Given the description of an element on the screen output the (x, y) to click on. 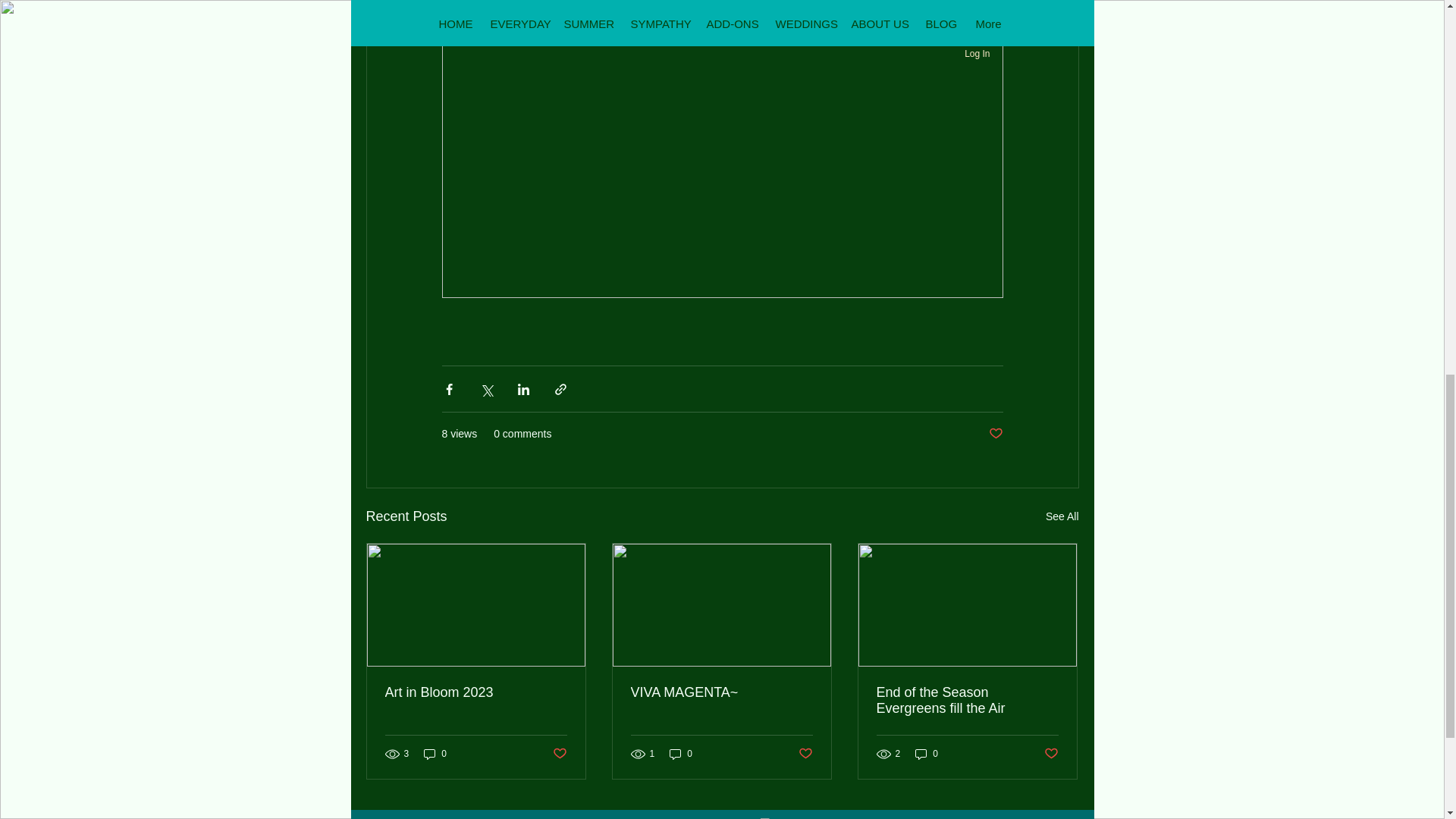
0 (435, 753)
Post not marked as liked (1050, 754)
0 (681, 753)
Art in Bloom 2023 (476, 692)
See All (1061, 516)
End of the Season Evergreens fill the Air (967, 700)
Post not marked as liked (995, 433)
Post not marked as liked (804, 754)
Post not marked as liked (558, 754)
0 (926, 753)
